Given the description of an element on the screen output the (x, y) to click on. 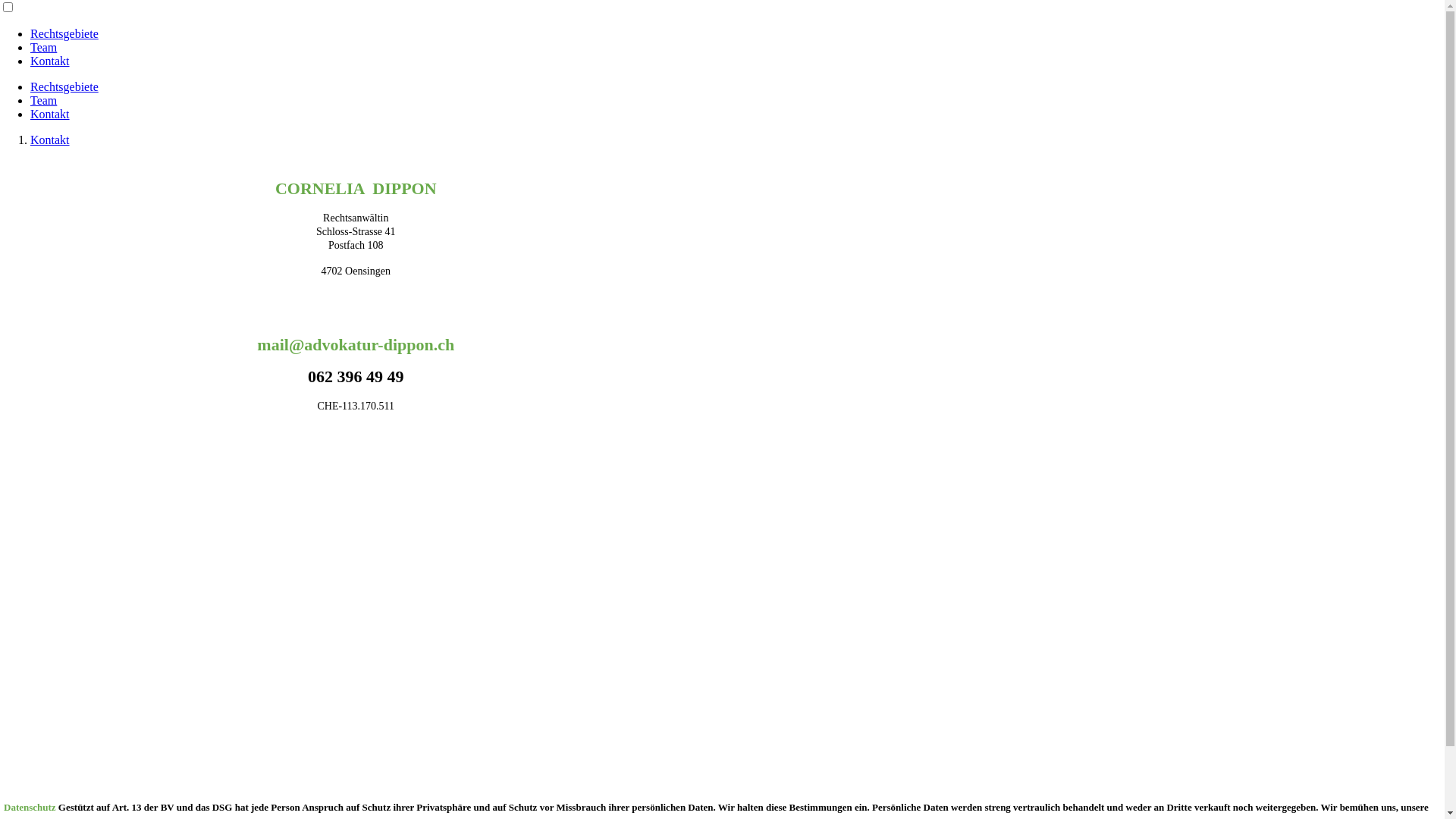
Team Element type: text (43, 100)
Kontakt Element type: text (49, 139)
Kontakt Element type: text (49, 60)
Kontakt Element type: text (49, 113)
Team Element type: text (43, 46)
Rechtsgebiete Element type: text (64, 33)
Rechtsgebiete Element type: text (64, 86)
